Given the description of an element on the screen output the (x, y) to click on. 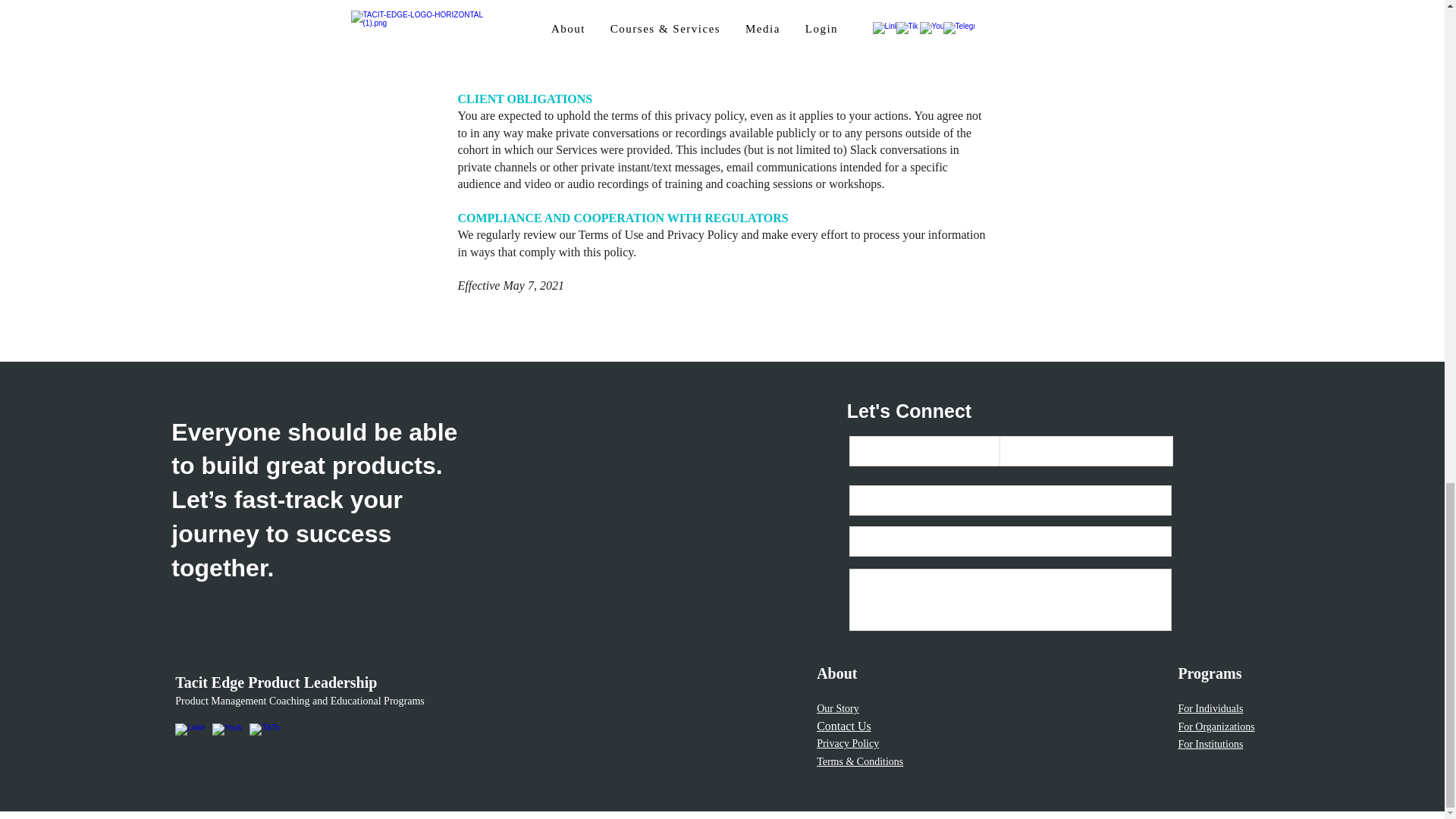
Privacy Policy (847, 742)
Submit (897, 668)
For Institutions (1210, 744)
Our Story (837, 707)
Contact Us (843, 725)
For Individuals (1210, 707)
